Given the description of an element on the screen output the (x, y) to click on. 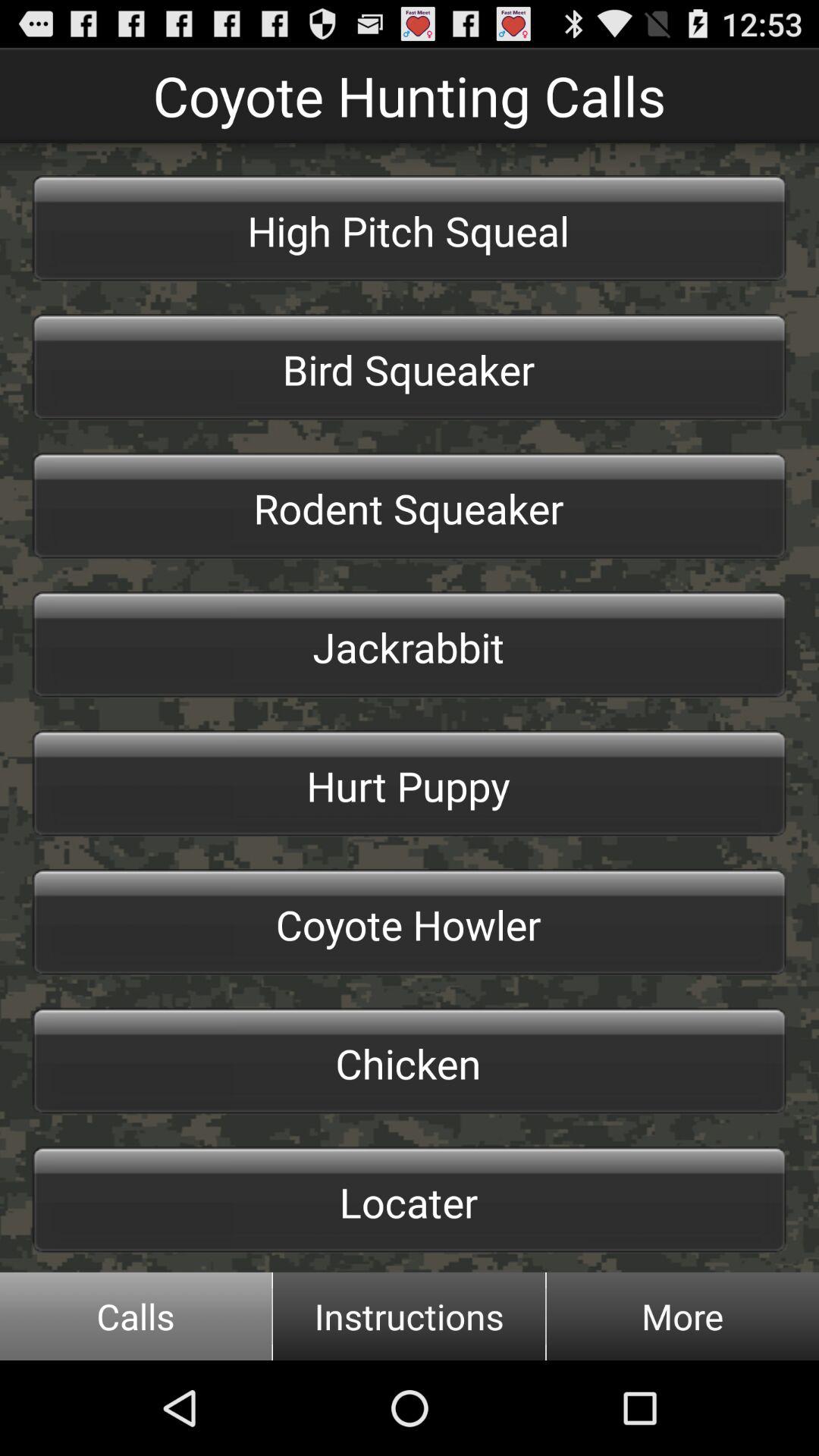
flip until the rodent squeaker item (409, 505)
